Given the description of an element on the screen output the (x, y) to click on. 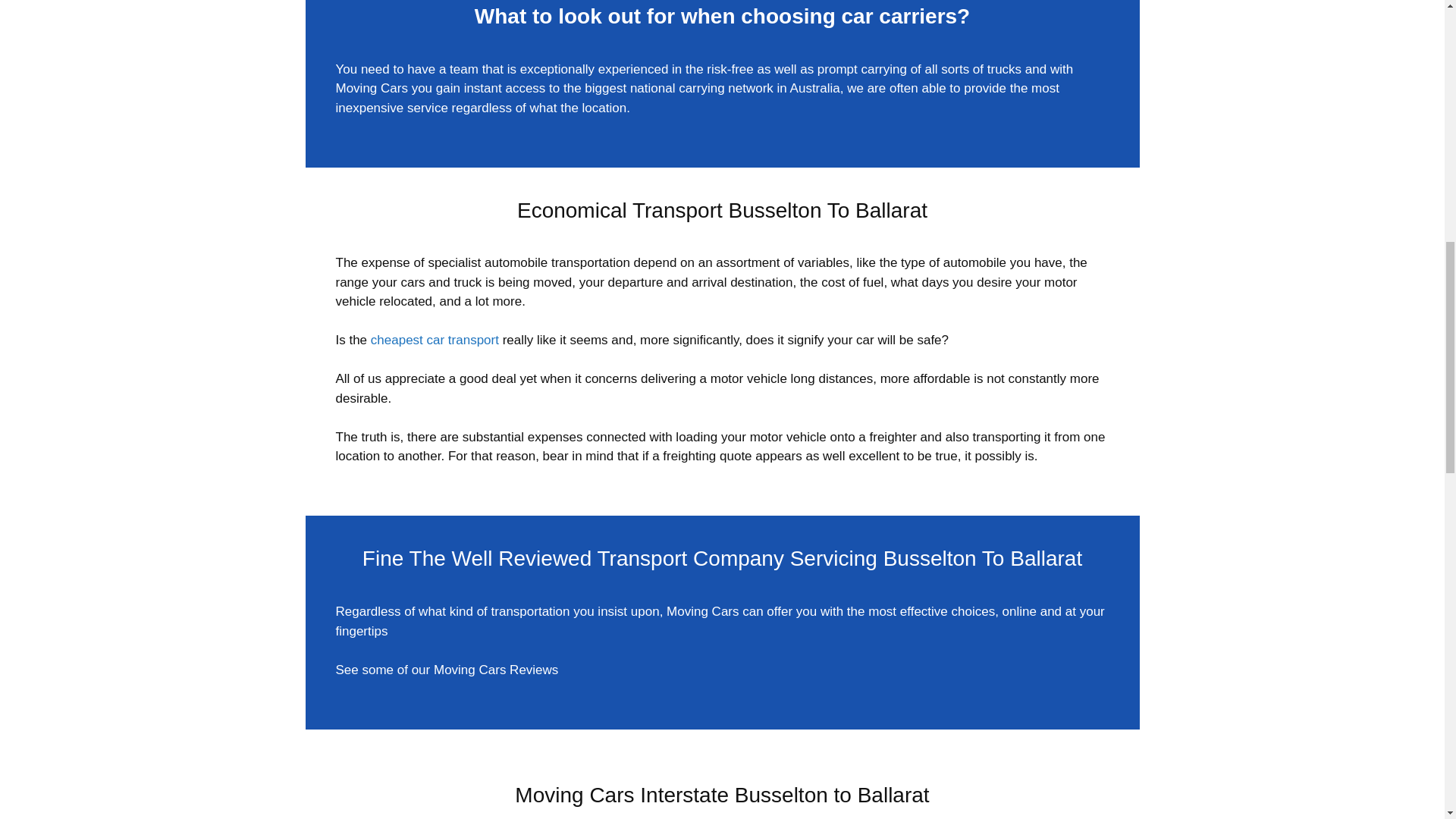
Moving Cars (370, 88)
cheapest car transport (435, 339)
Moving Cars Reviews (495, 669)
